Given the description of an element on the screen output the (x, y) to click on. 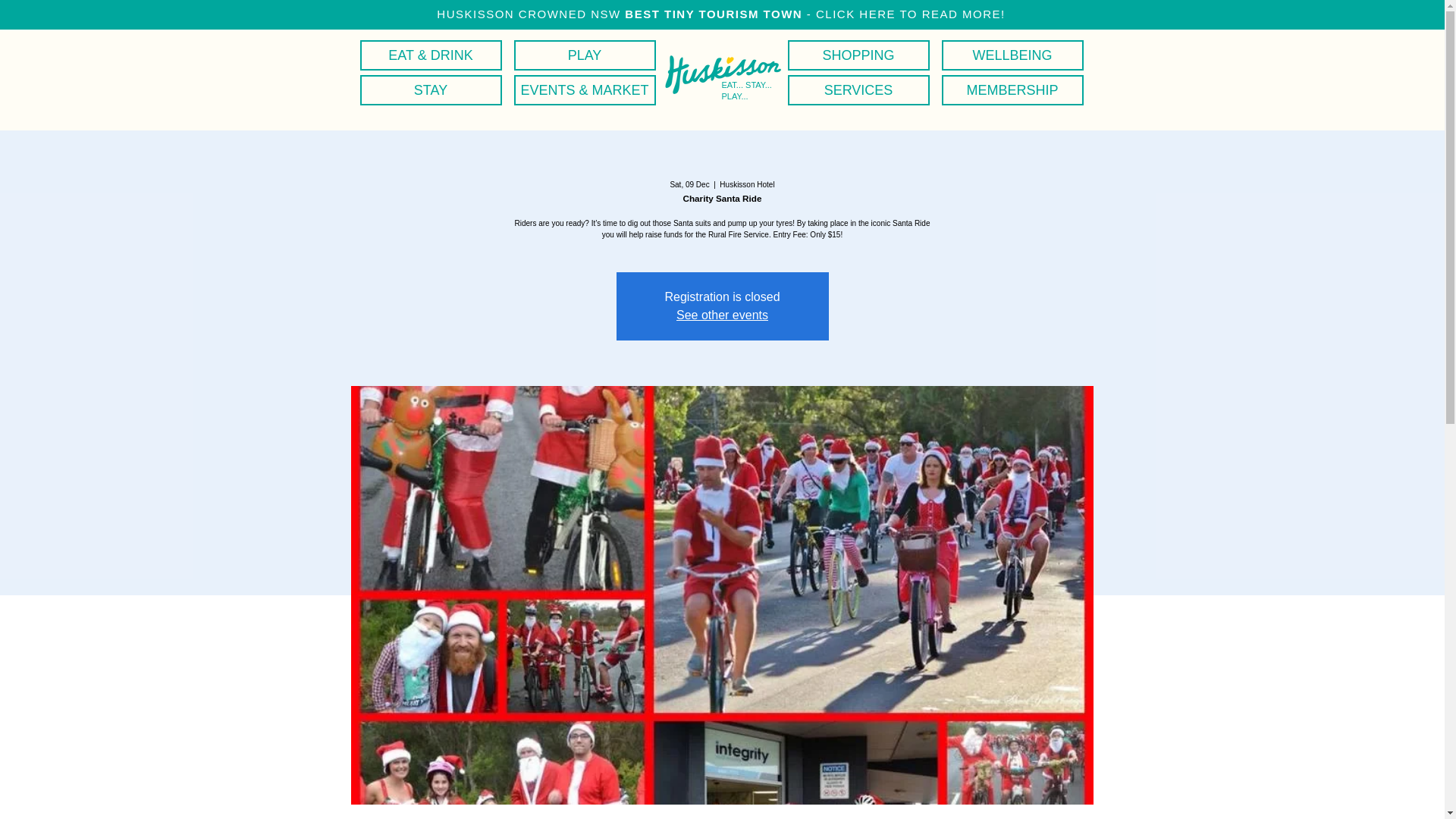
PLAY (584, 54)
STAY (430, 90)
SERVICES (858, 90)
WELLBEING (1012, 54)
MEMBERSHIP (1012, 90)
SHOPPING (858, 54)
See other events (722, 314)
